Given the description of an element on the screen output the (x, y) to click on. 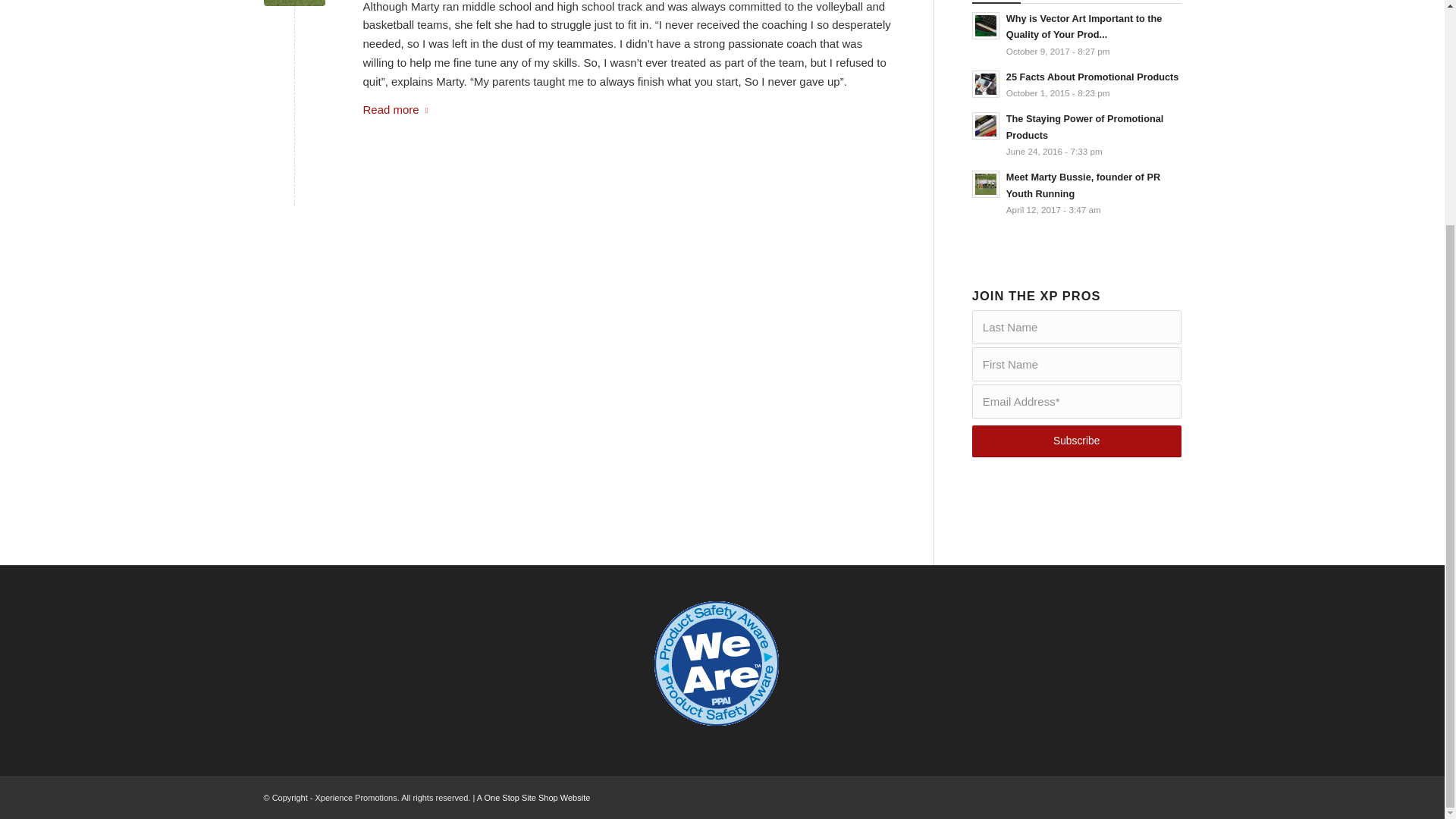
Read: The Staying Power of Promotional Products (985, 125)
Read: 25 Facts About Promotional Products (985, 83)
Why is Vector Art Important to the Quality of Your Prod... (1083, 26)
Pose (293, 2)
Read: Meet Marty Bussie, founder of PR Youth Running (985, 184)
Subscribe (1076, 441)
Read: 25 Facts About Promotional Products (1092, 76)
Read: Meet Marty Bussie, founder of PR Youth Running (1083, 185)
25 Facts About Promotional Products (1092, 76)
The Staying Power of Promotional Products (1084, 126)
Meet Marty Bussie, founder of PR Youth Running (1083, 185)
Read more (397, 109)
Read: The Staying Power of Promotional Products (1084, 126)
